Given the description of an element on the screen output the (x, y) to click on. 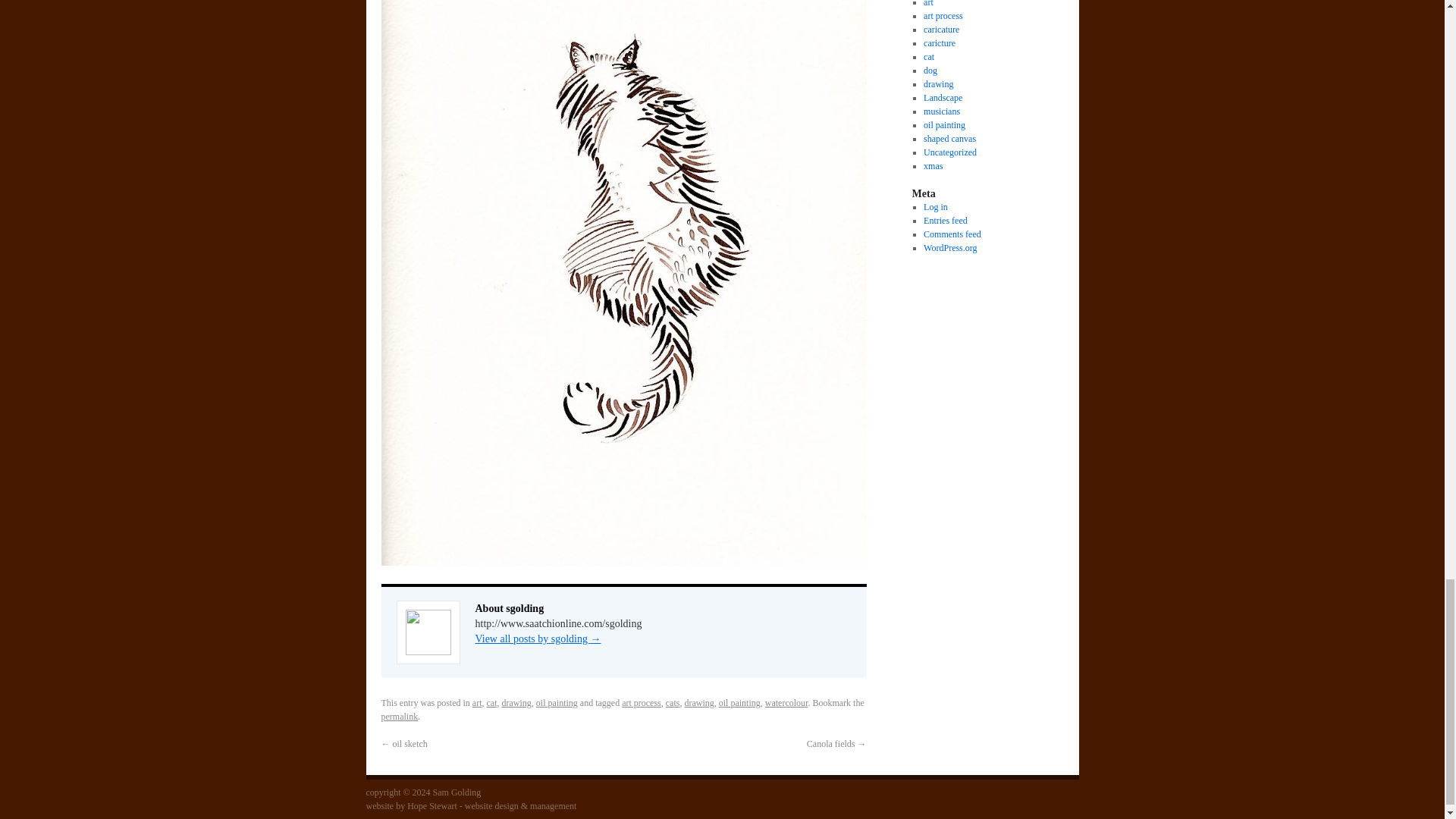
art process (641, 702)
oil painting (739, 702)
Permalink to Meow (398, 716)
oil painting (556, 702)
cat (491, 702)
watercolour (786, 702)
cats (672, 702)
permalink (398, 716)
art (476, 702)
drawing (698, 702)
drawing (515, 702)
